Given the description of an element on the screen output the (x, y) to click on. 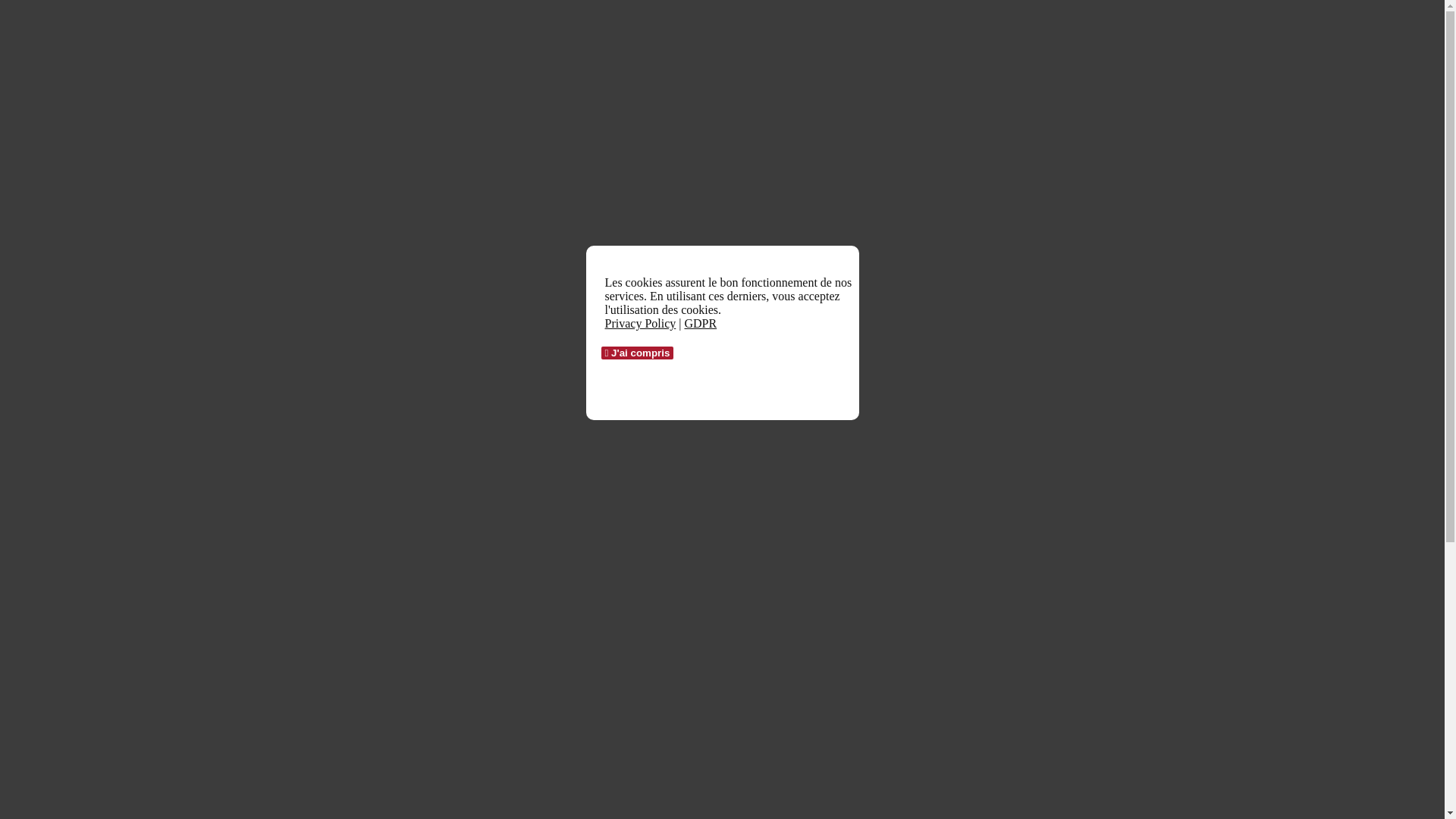
Activate! Element type: text (28, 351)
menu Element type: text (24, 177)
Espace Enfant Element type: text (71, 244)
info@yummybakery.eu Element type: text (63, 514)
en Element type: text (41, 297)
Associations Element type: text (67, 217)
www.yummybakery.eu Element type: text (62, 527)
fr Element type: text (40, 325)
Presse Element type: text (51, 272)
Notre histoire Element type: text (69, 203)
Refresh Element type: text (29, 694)
nl Element type: text (40, 311)
envoyer Element type: text (29, 710)
contact Element type: text (53, 258)
GDPR Element type: text (700, 322)
Privacy Policy Element type: text (640, 322)
Produits Element type: text (56, 231)
